Given the description of an element on the screen output the (x, y) to click on. 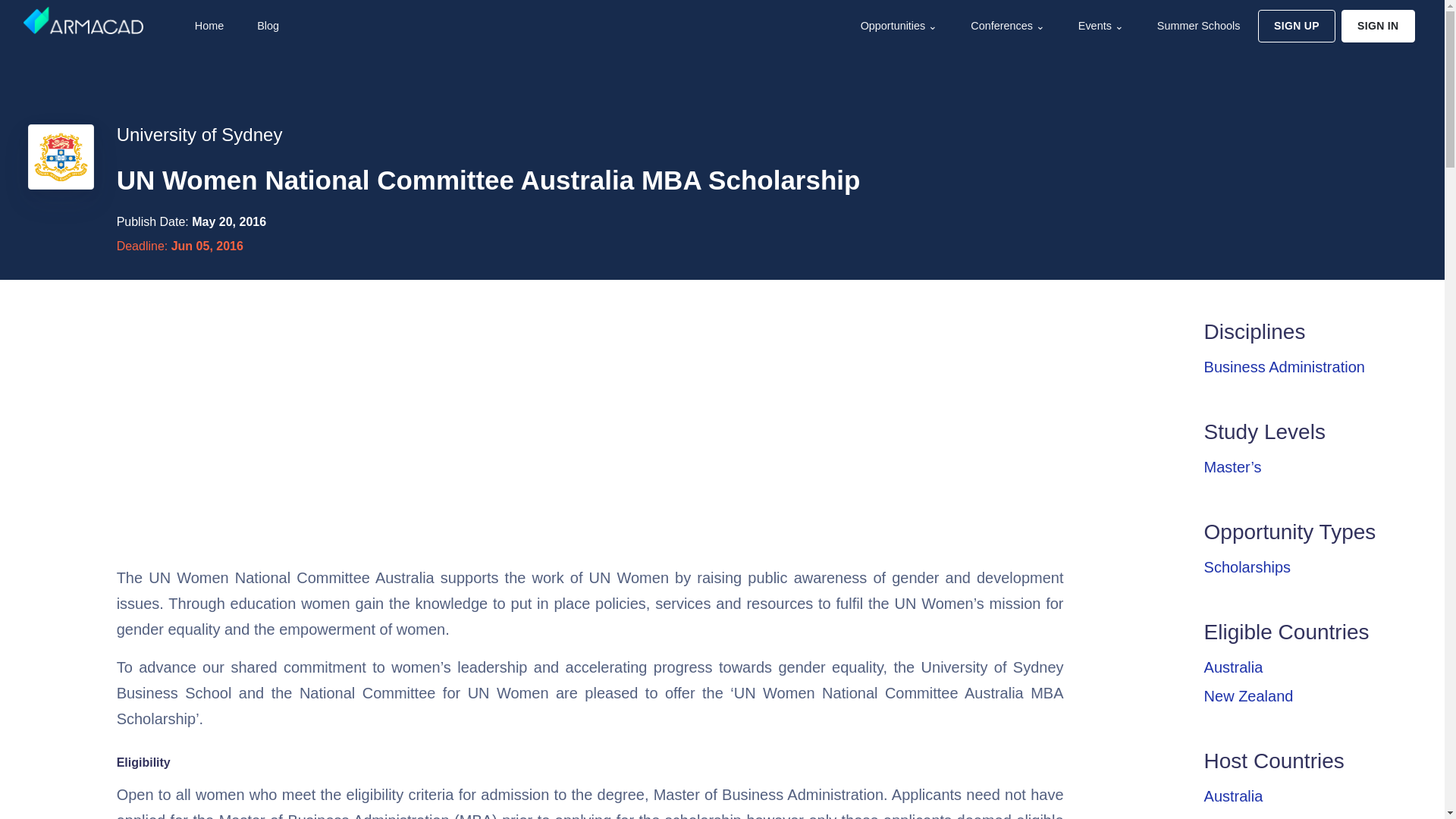
ARMACAD Home Page (82, 20)
SIGN UP (1296, 25)
University of Sydney (199, 134)
ARMACAD Home Page (207, 25)
SIGN IN (1377, 25)
Blog (266, 25)
Summer Schools (1196, 25)
Home (207, 25)
The ARMACAD Blog (266, 25)
